Given the description of an element on the screen output the (x, y) to click on. 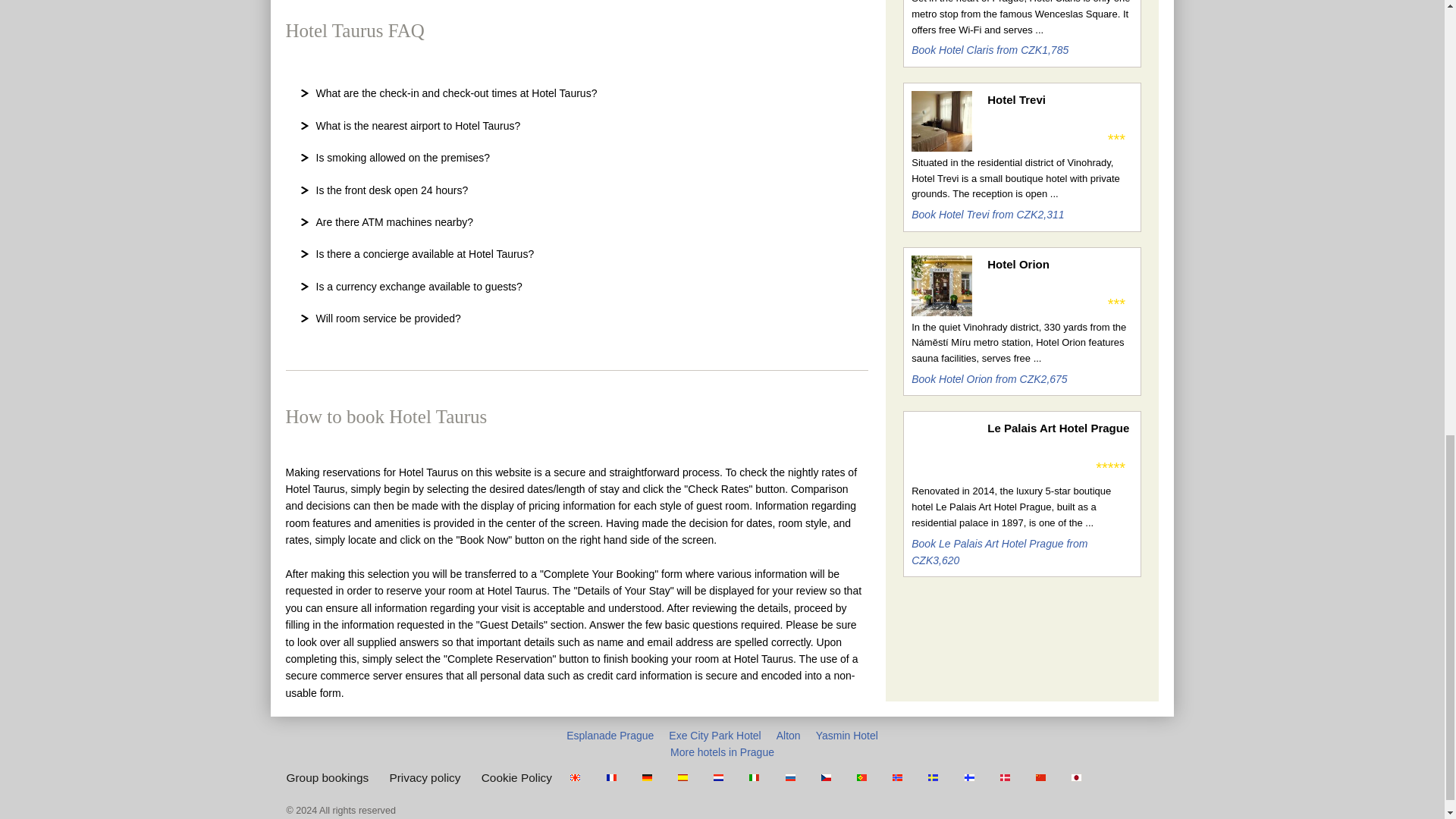
Book Hotel Claris from CZK1,785 (989, 50)
More hotels in Prague (721, 752)
Book Hotel Orion from CZK2,675 (989, 378)
Alton (788, 735)
Book Hotel Trevi from CZK2,311 (987, 214)
Cookie Policy (516, 777)
Hotel Trevi (1059, 99)
Yasmin Hotel (846, 735)
Hotel Orion (1059, 264)
Group bookings (327, 777)
Le Palais Art Hotel Prague (1059, 428)
Privacy policy (424, 777)
Exe City Park Hotel (714, 735)
Book Le Palais Art Hotel Prague from CZK3,620 (999, 551)
Esplanade Prague (609, 735)
